Given the description of an element on the screen output the (x, y) to click on. 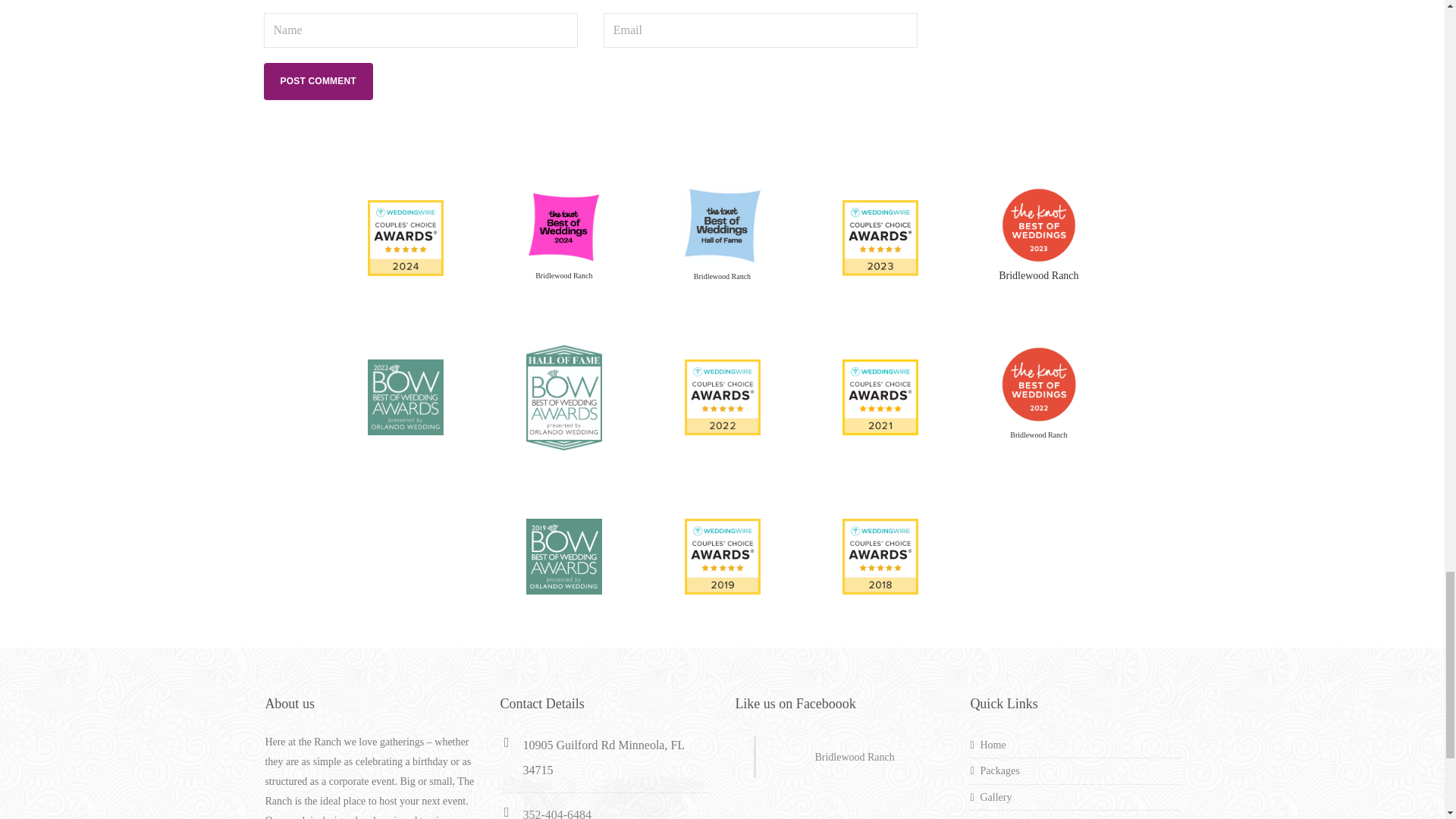
WeddingWire Couples' Choice Award Winner 2024 (406, 236)
WeddingWire Couples' Choice Award Winner 2022 (722, 396)
Post Comment (317, 81)
WeddingWire Couples' Choice Award Winner 2019 (722, 555)
WeddingWire Couples' Choice Award Winner 2021 (880, 396)
WeddingWire Couples' Choice Award Winner 2023 (880, 236)
Post Comment (317, 81)
